Given the description of an element on the screen output the (x, y) to click on. 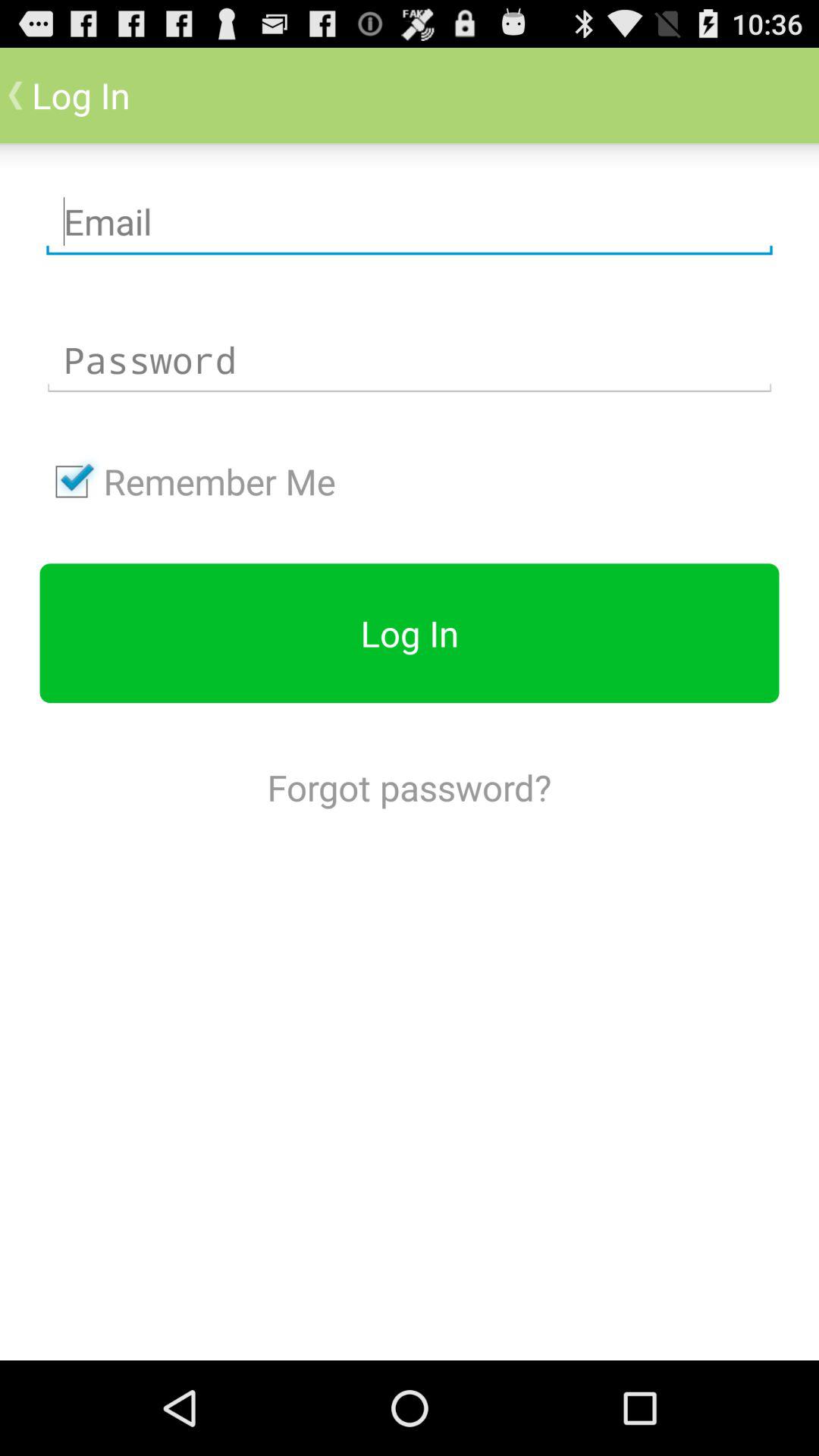
a line to type in your password (409, 360)
